Given the description of an element on the screen output the (x, y) to click on. 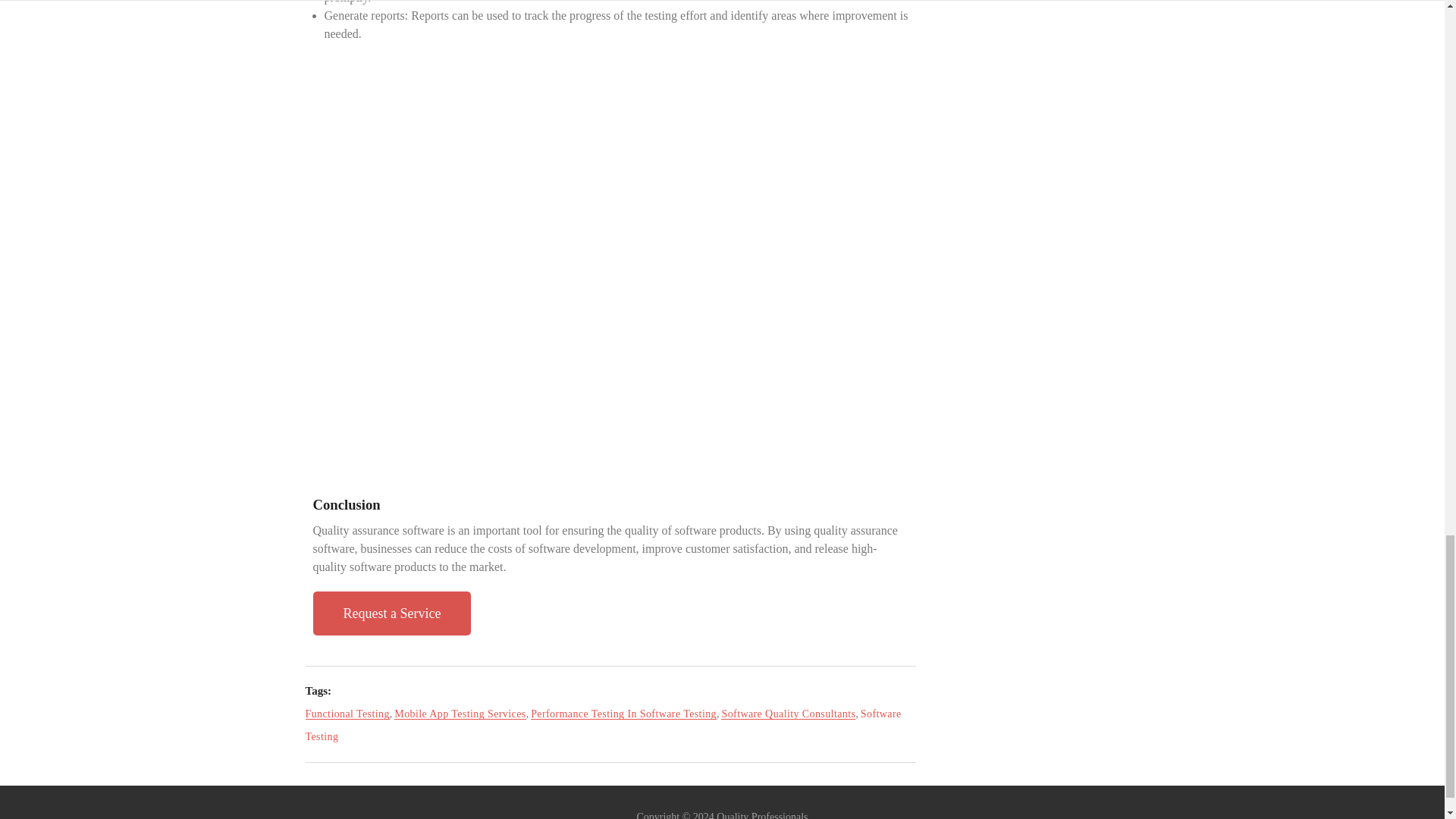
Software Testing (602, 725)
Performance Testing In Software Testing (623, 713)
Mobile App Testing Services (459, 713)
Functional Testing (346, 713)
Request a Service (391, 613)
Software Quality Consultants (788, 713)
